Given the description of an element on the screen output the (x, y) to click on. 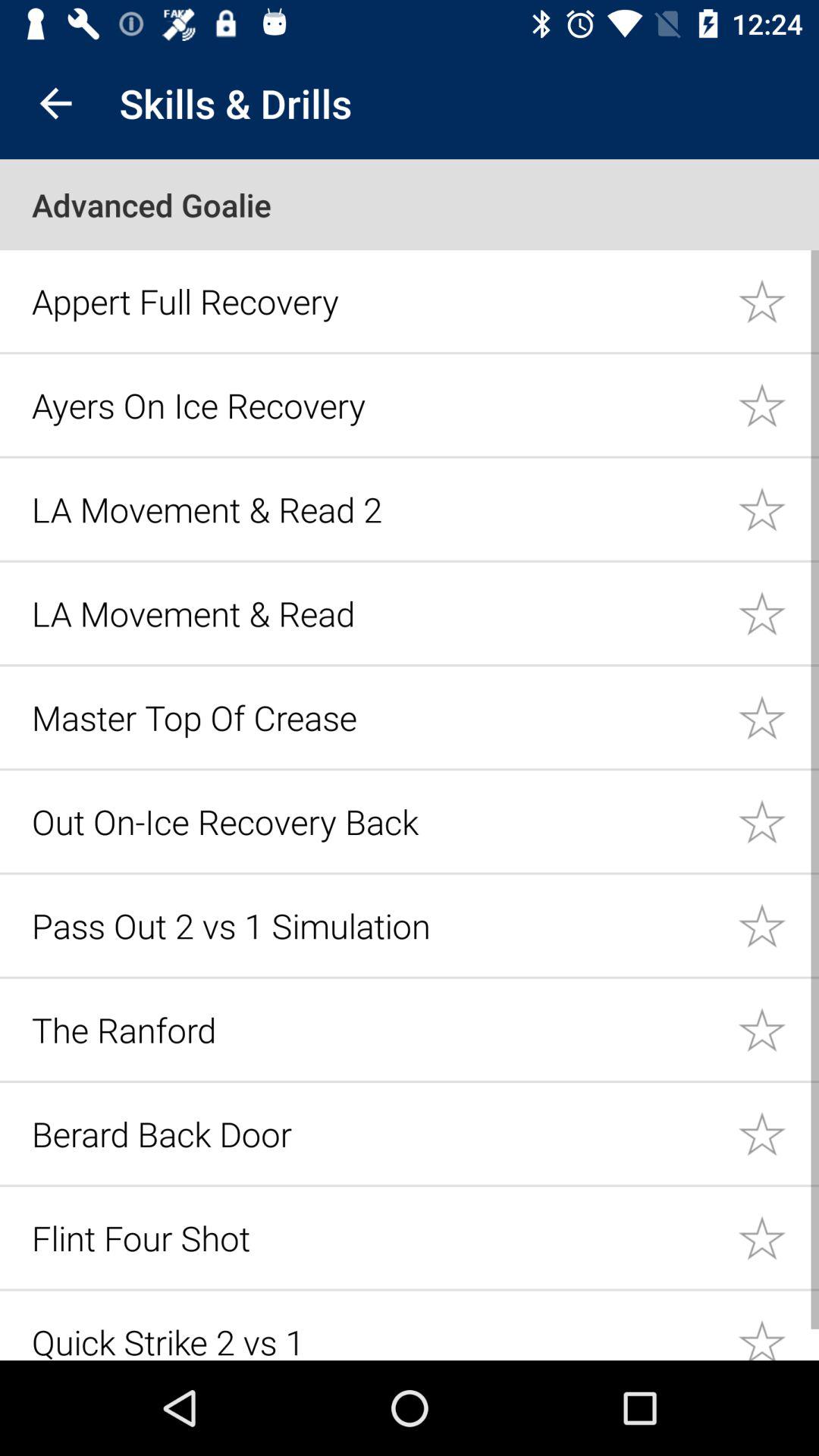
important star icon (778, 508)
